Given the description of an element on the screen output the (x, y) to click on. 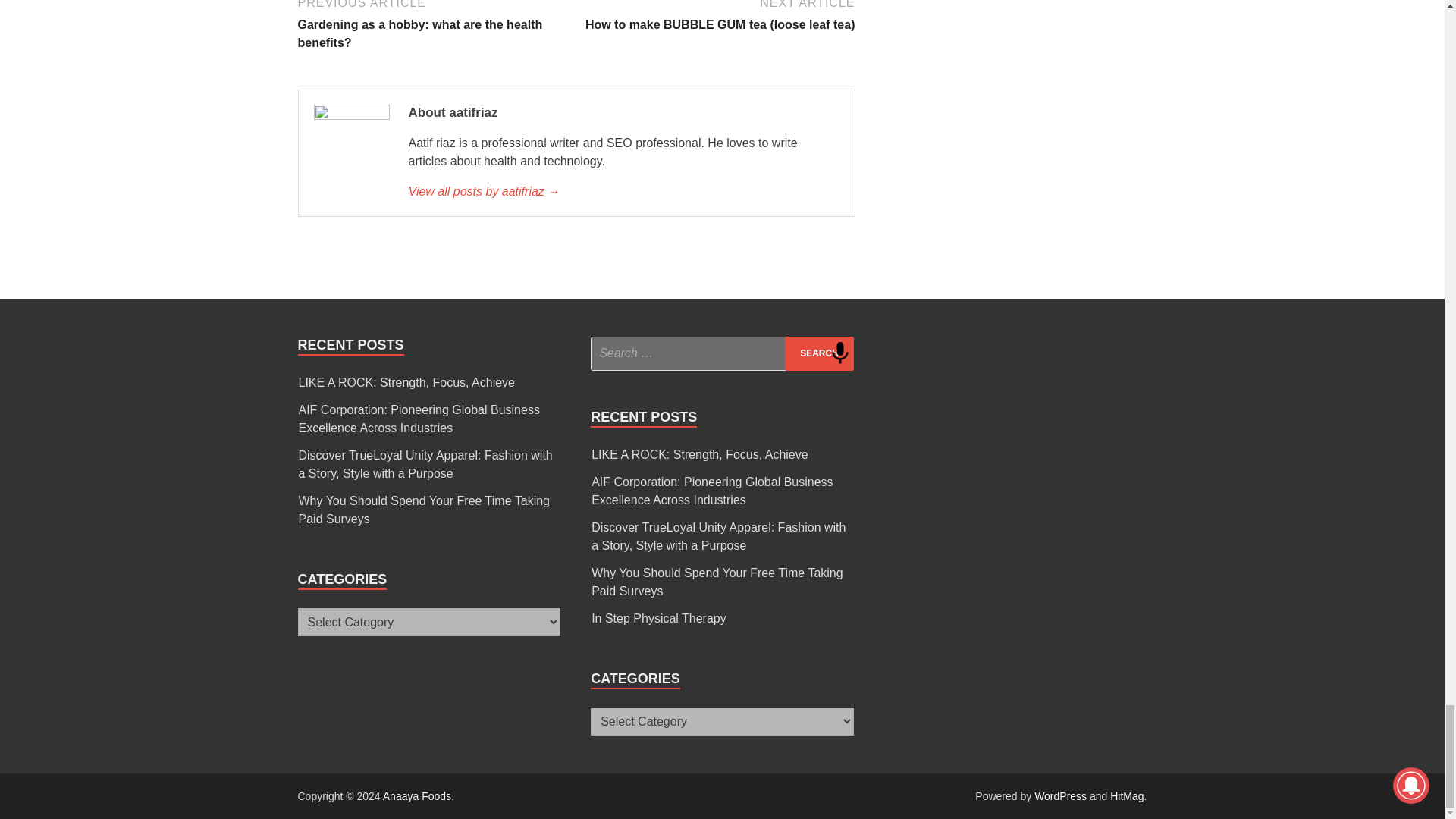
Search (818, 353)
Search (818, 353)
aatifriaz (622, 191)
